Given the description of an element on the screen output the (x, y) to click on. 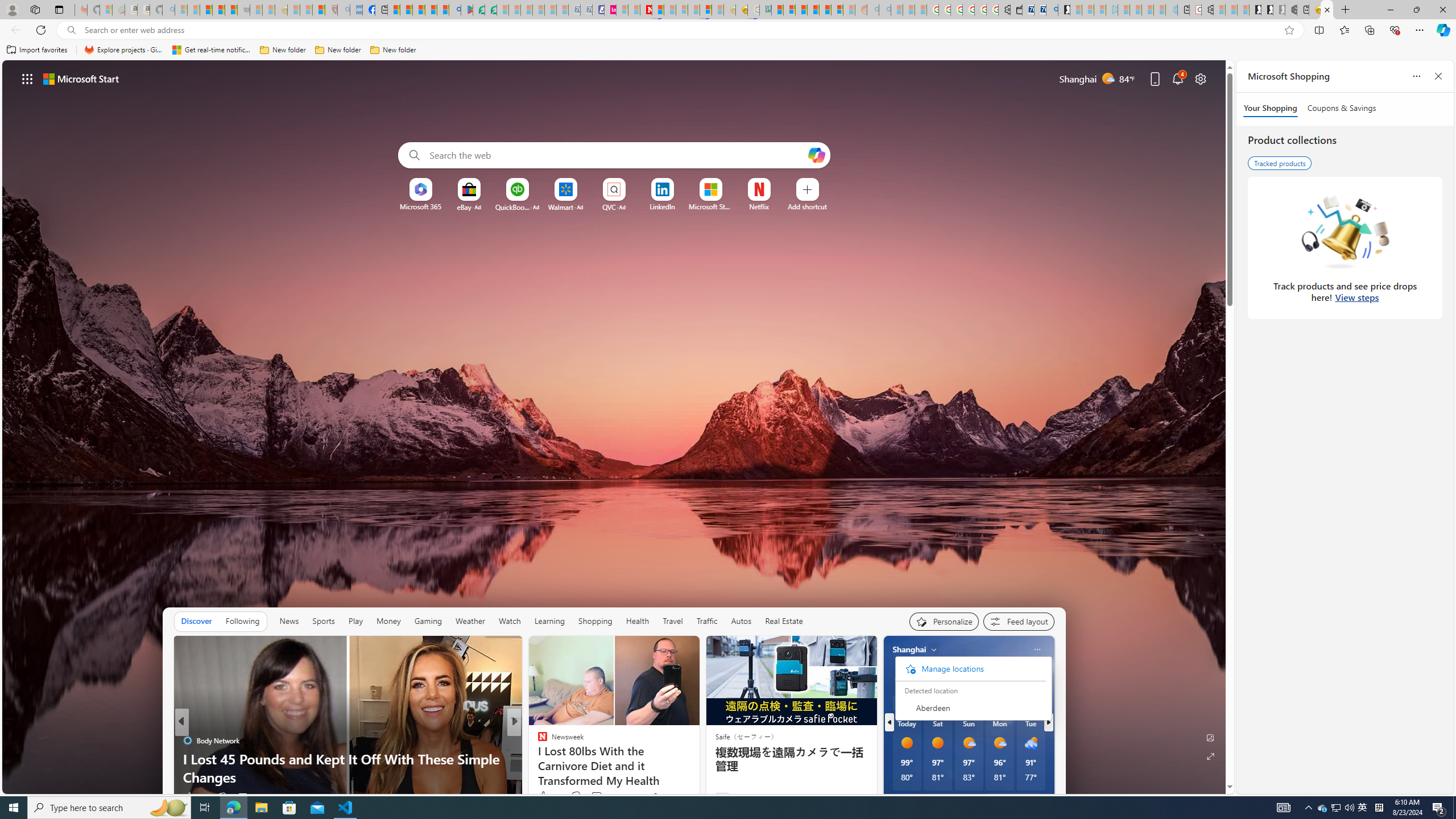
New folder (392, 49)
View comments 11 Comment (247, 796)
194 Like (194, 796)
Class: icon-img (1037, 649)
Cheap Hotels - Save70.com - Sleeping (585, 9)
Health (637, 621)
Manage locations (969, 669)
Dislike (575, 795)
